Given the description of an element on the screen output the (x, y) to click on. 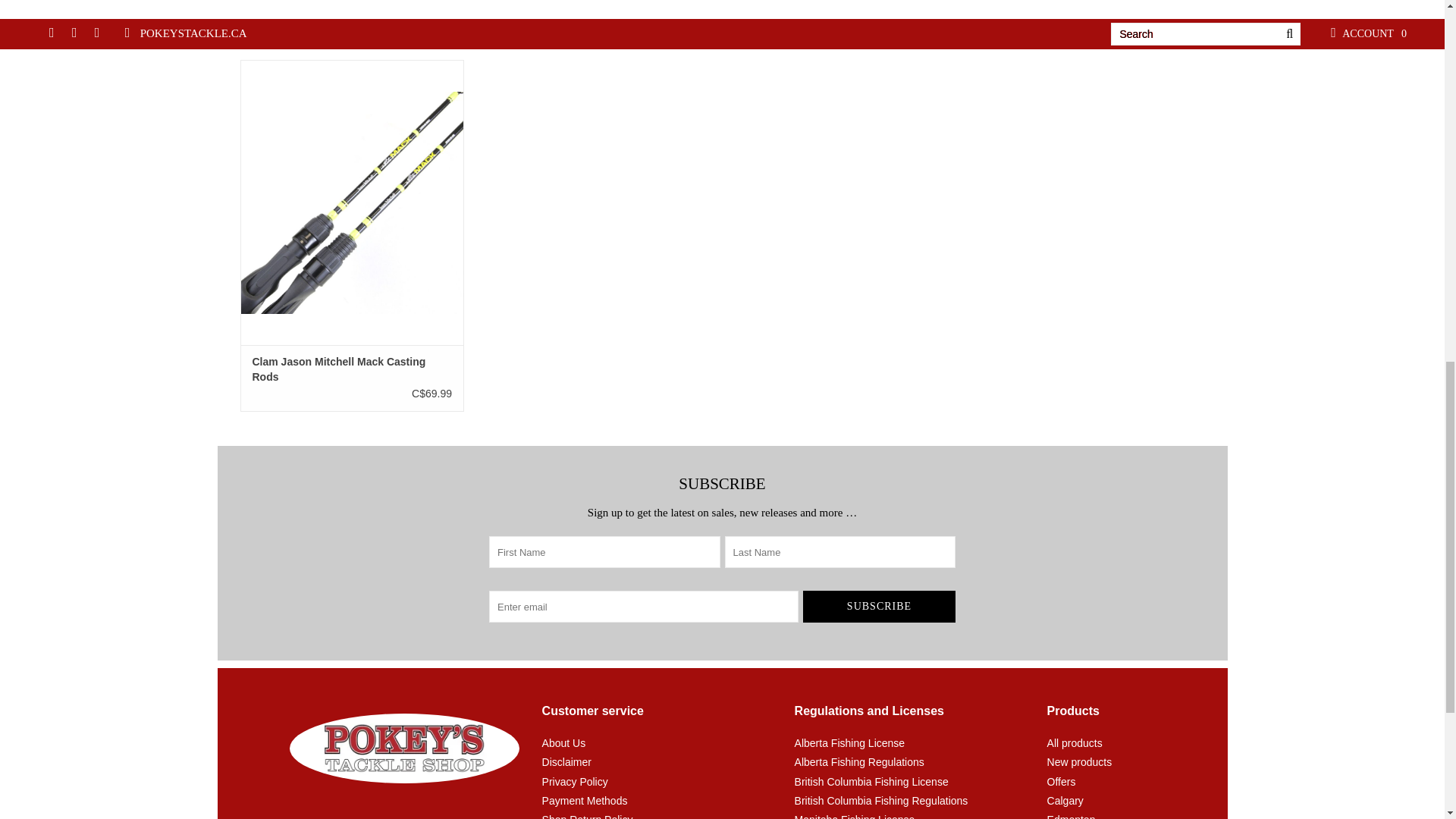
Subscribe (879, 606)
